Given the description of an element on the screen output the (x, y) to click on. 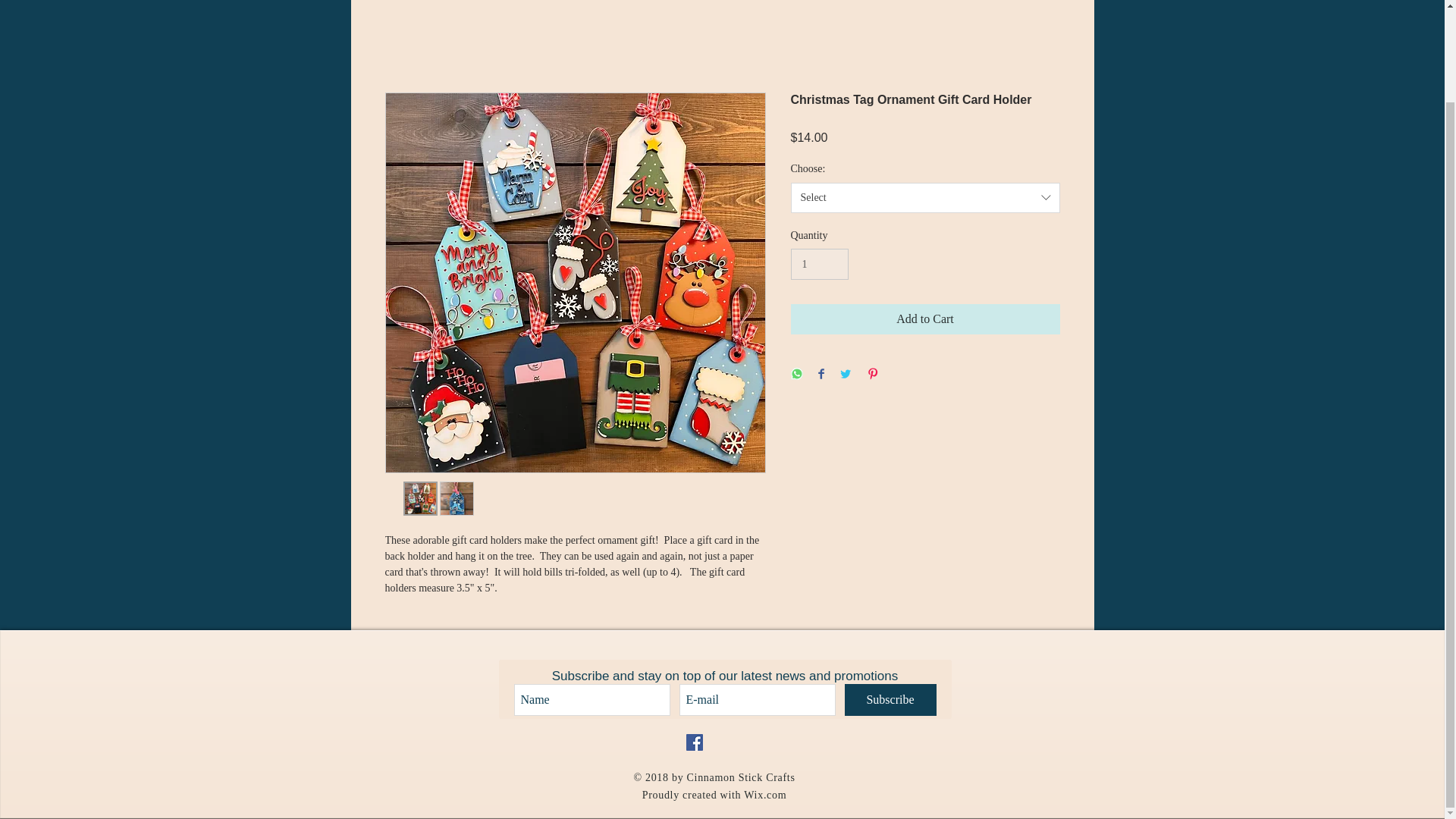
Add to Cart (924, 318)
Select (924, 197)
Subscribe (890, 699)
Wix.com (765, 794)
1 (818, 264)
